Given the description of an element on the screen output the (x, y) to click on. 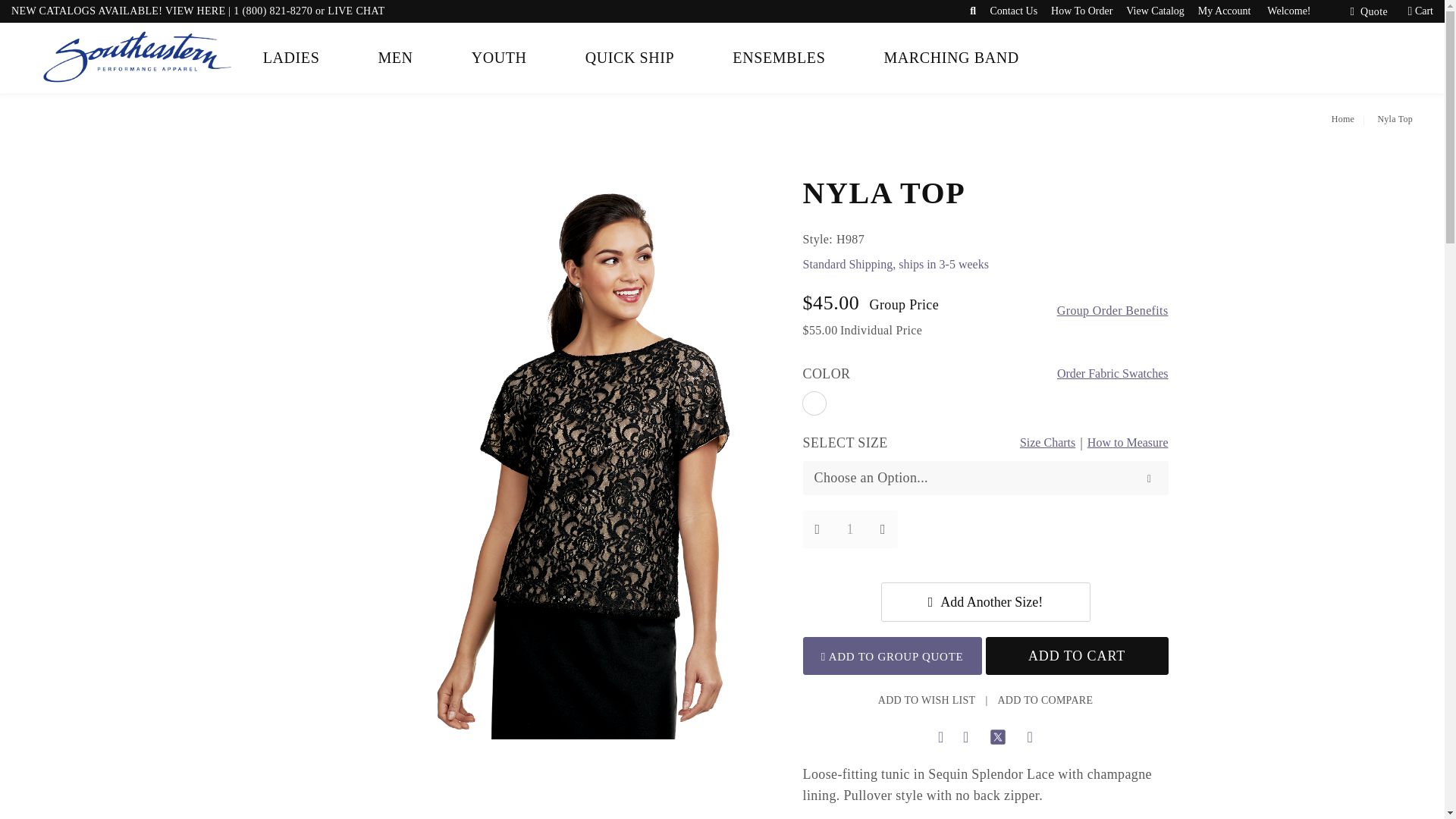
Add to Quote (892, 655)
Add to Cart (1077, 655)
LADIES (290, 57)
Choose an Option... (986, 478)
Go to Home Page (1347, 118)
Quote (1365, 11)
1 (850, 528)
Quote (1365, 11)
